Given the description of an element on the screen output the (x, y) to click on. 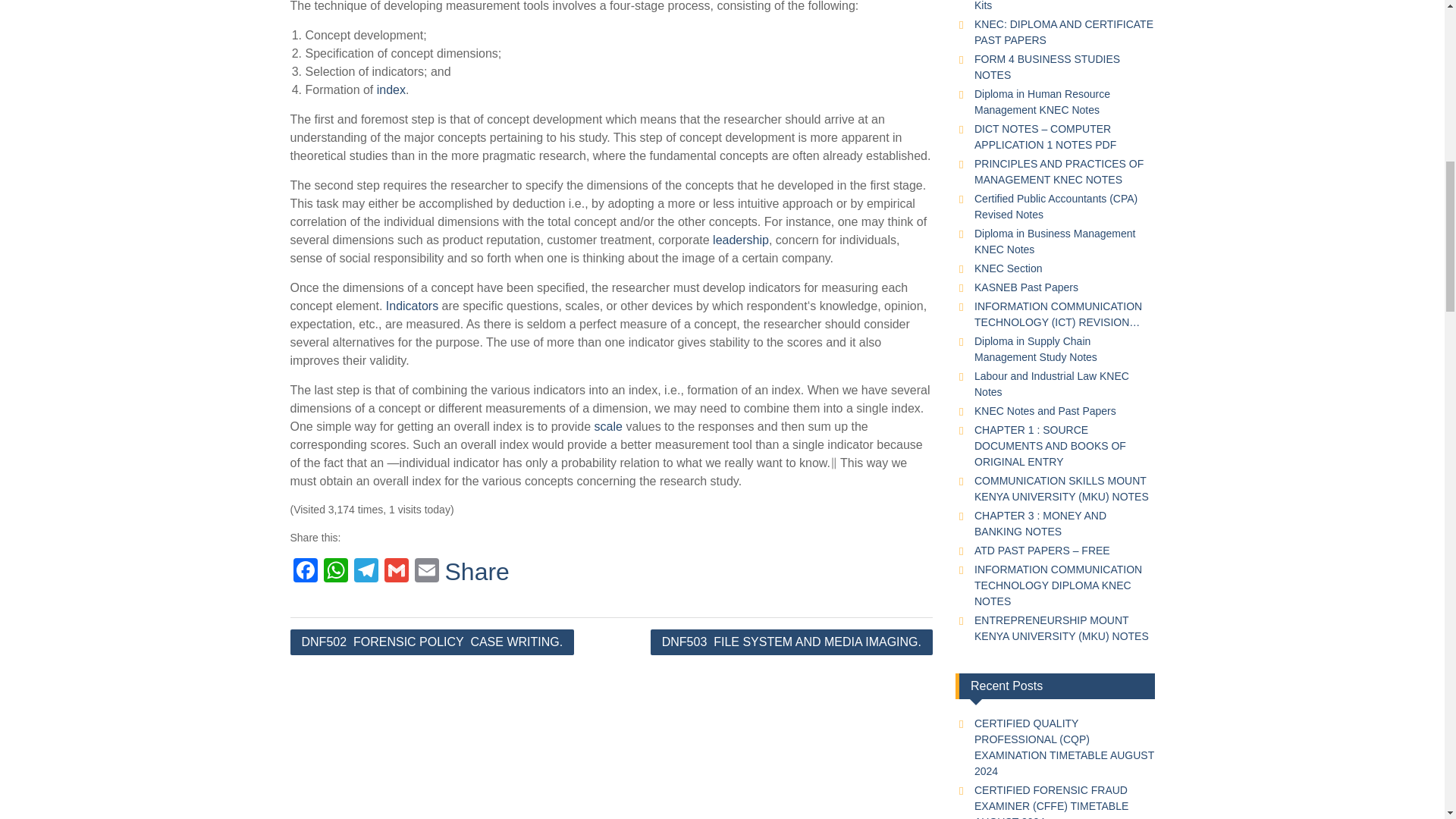
Facebook (304, 571)
leadership (740, 239)
WhatsApp (335, 571)
Telegram (365, 571)
Facebook (304, 571)
index (391, 89)
Gmail (395, 571)
Indicators (411, 305)
Email (425, 571)
scale (608, 426)
